Given the description of an element on the screen output the (x, y) to click on. 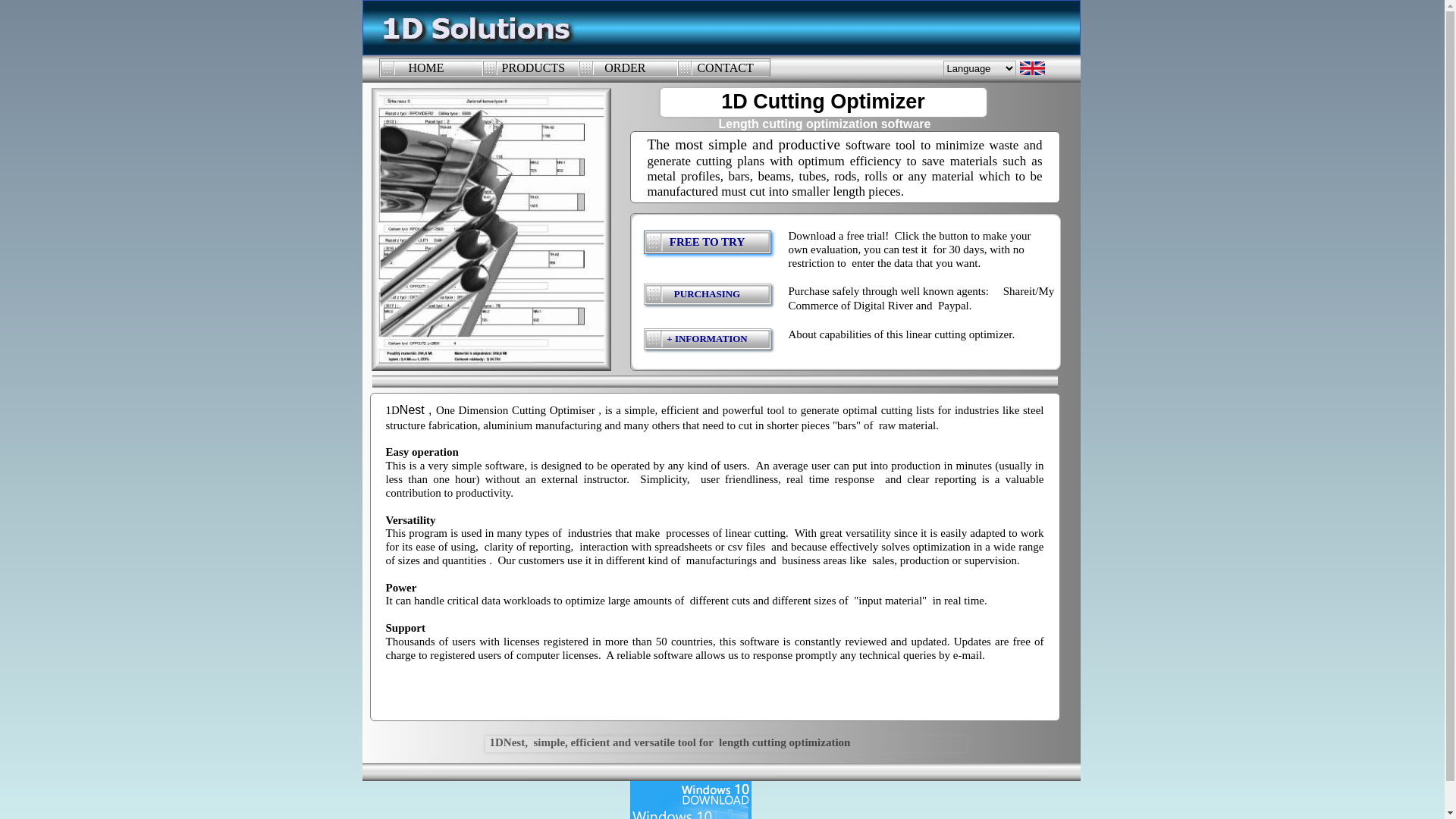
+ INFORMATION Element type: text (706, 338)
1D Solutions,  1DNEst Element type: hover (721, 27)
FREE TO TRY Element type: text (706, 242)
PURCHASING Element type: text (706, 293)
Cutting list report with graphics of cut layouts Element type: hover (491, 228)
